Given the description of an element on the screen output the (x, y) to click on. 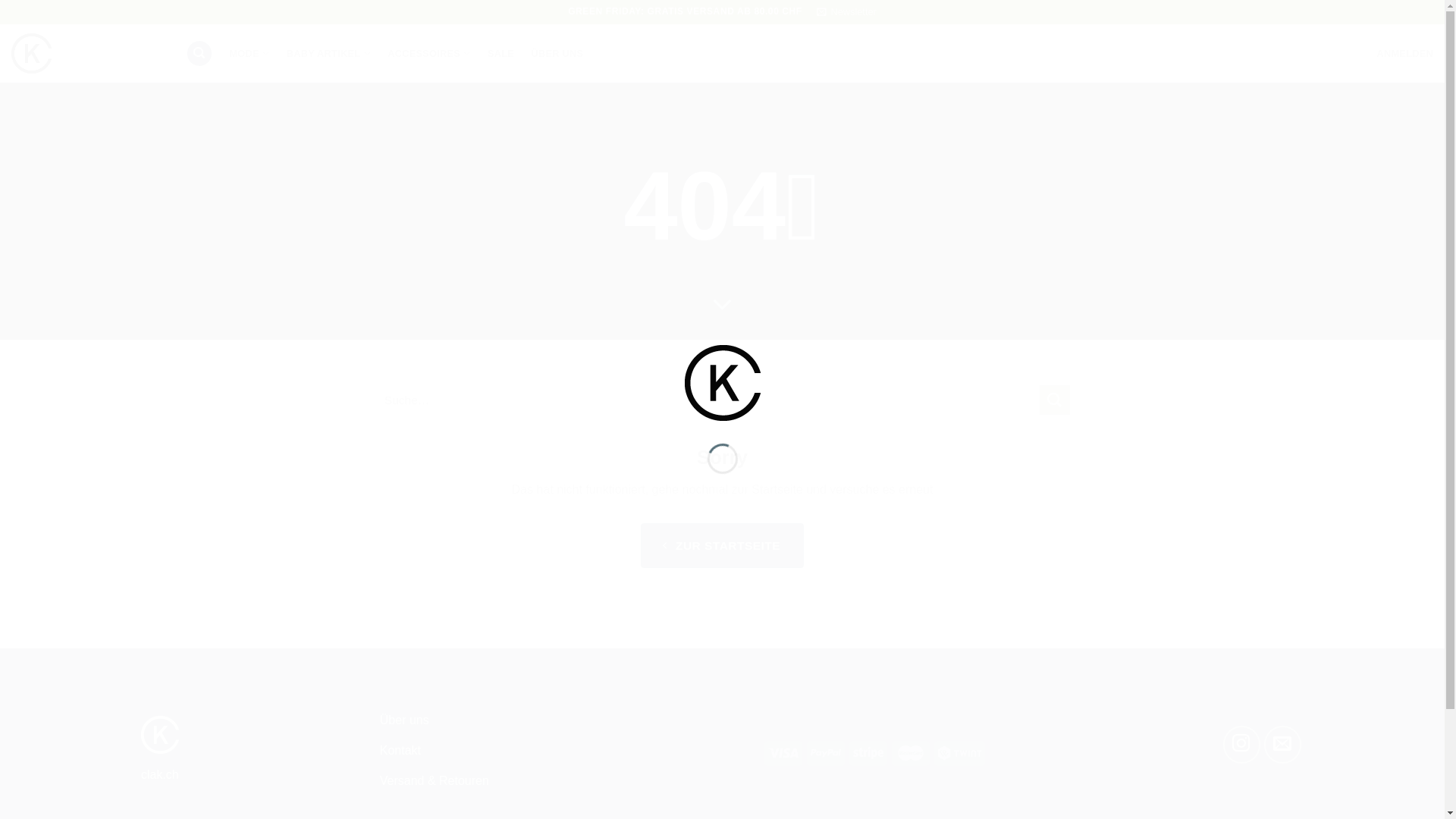
Newsletter Element type: text (845, 11)
Follow on Instagram Element type: hover (1241, 743)
Send us an email Element type: hover (1281, 743)
ZUR STARTSEITE Element type: text (721, 545)
ANMELDEN Element type: text (1404, 52)
BABY ARTIKEL Element type: text (328, 53)
ACCESSOIRES Element type: text (428, 53)
Suche Element type: text (1054, 399)
Versand & Retouren Element type: text (487, 782)
SALE Element type: text (500, 52)
clak.ch - Mode & Stoffe Element type: hover (721, 381)
Kontakt Element type: text (487, 752)
clak.ch - Mode & Stoffe Element type: hover (87, 53)
MODE Element type: text (249, 53)
